Given the description of an element on the screen output the (x, y) to click on. 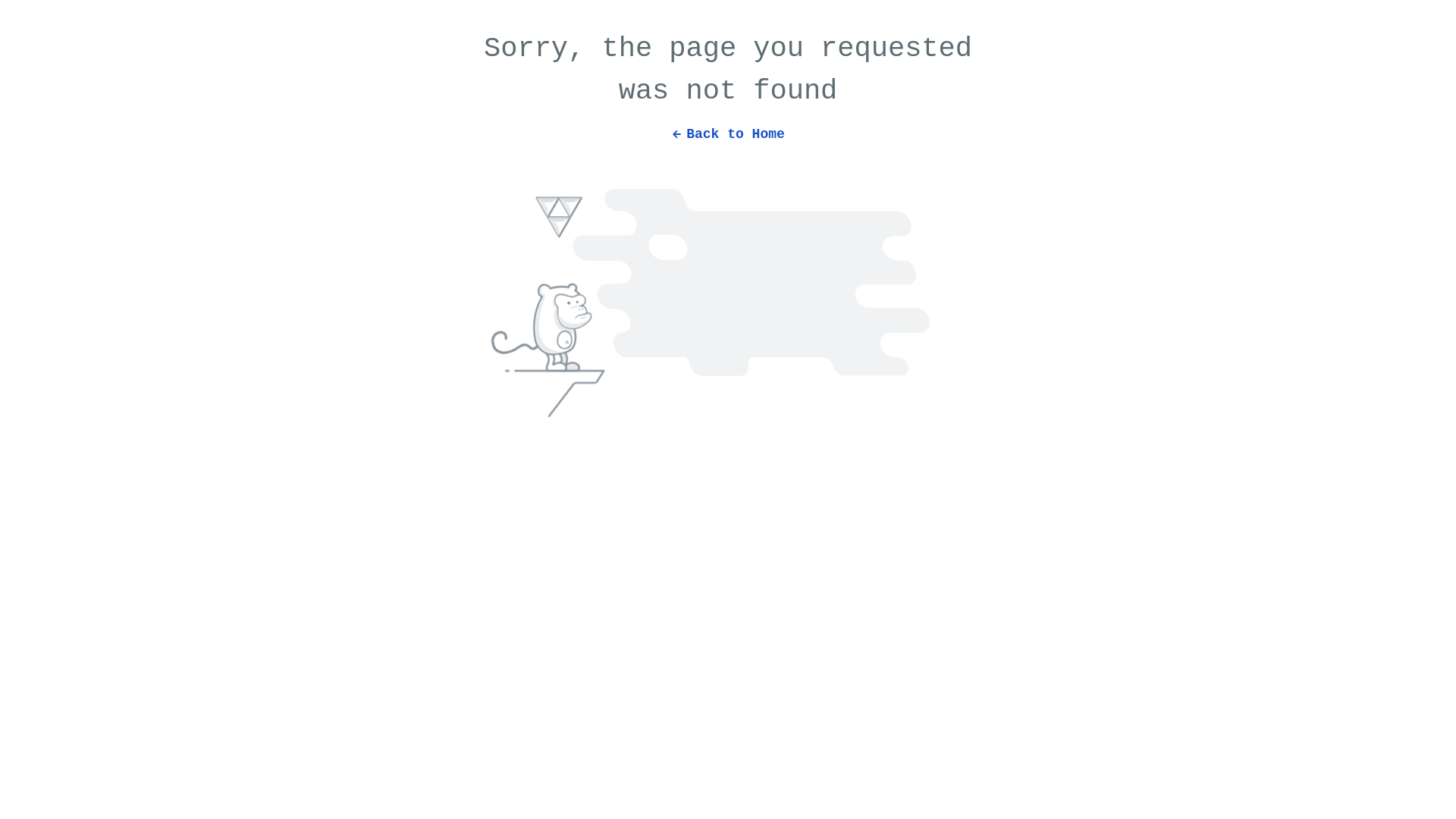
Back to Home Element type: text (727, 126)
